Given the description of an element on the screen output the (x, y) to click on. 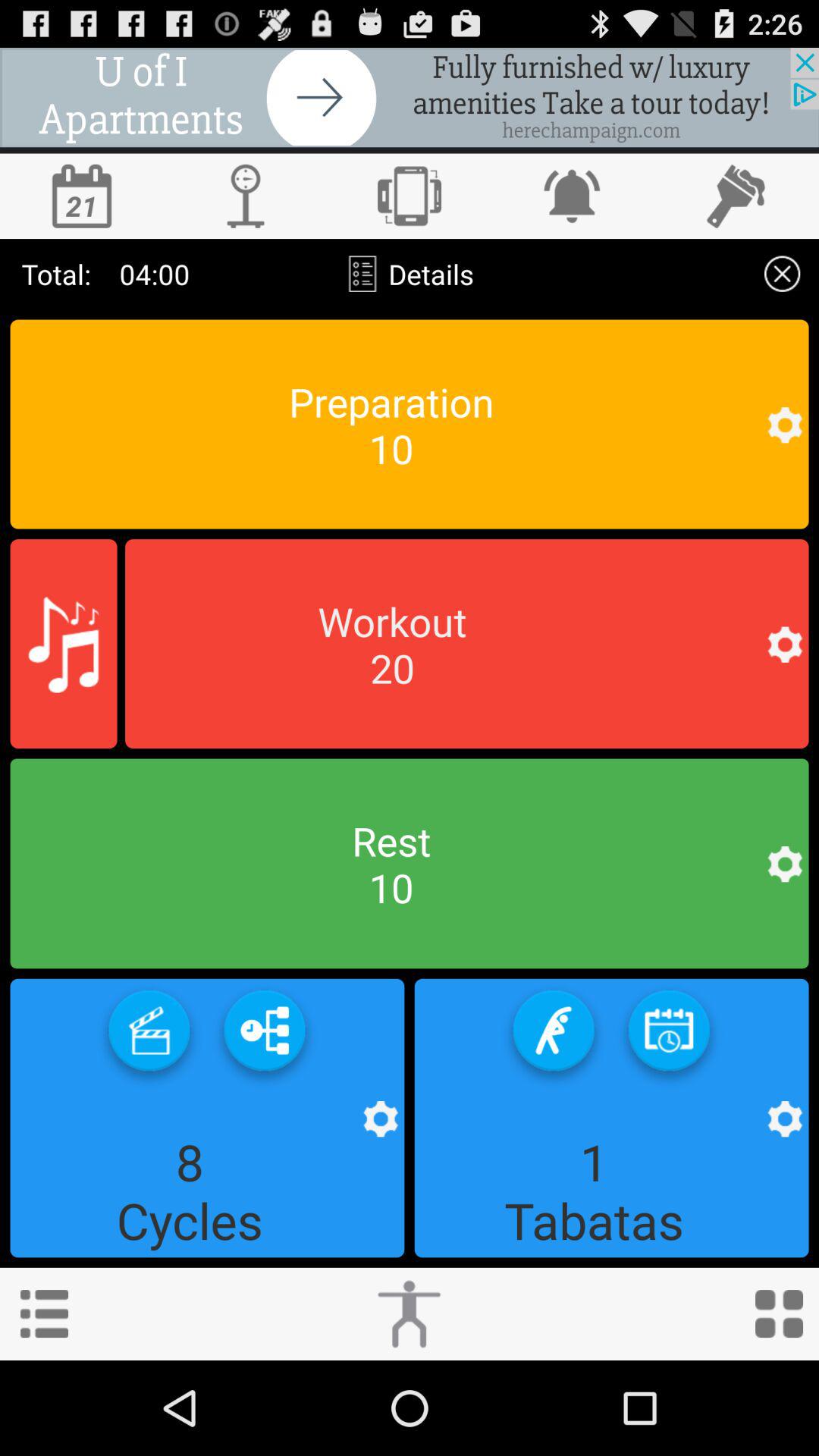
menu page (44, 1313)
